Given the description of an element on the screen output the (x, y) to click on. 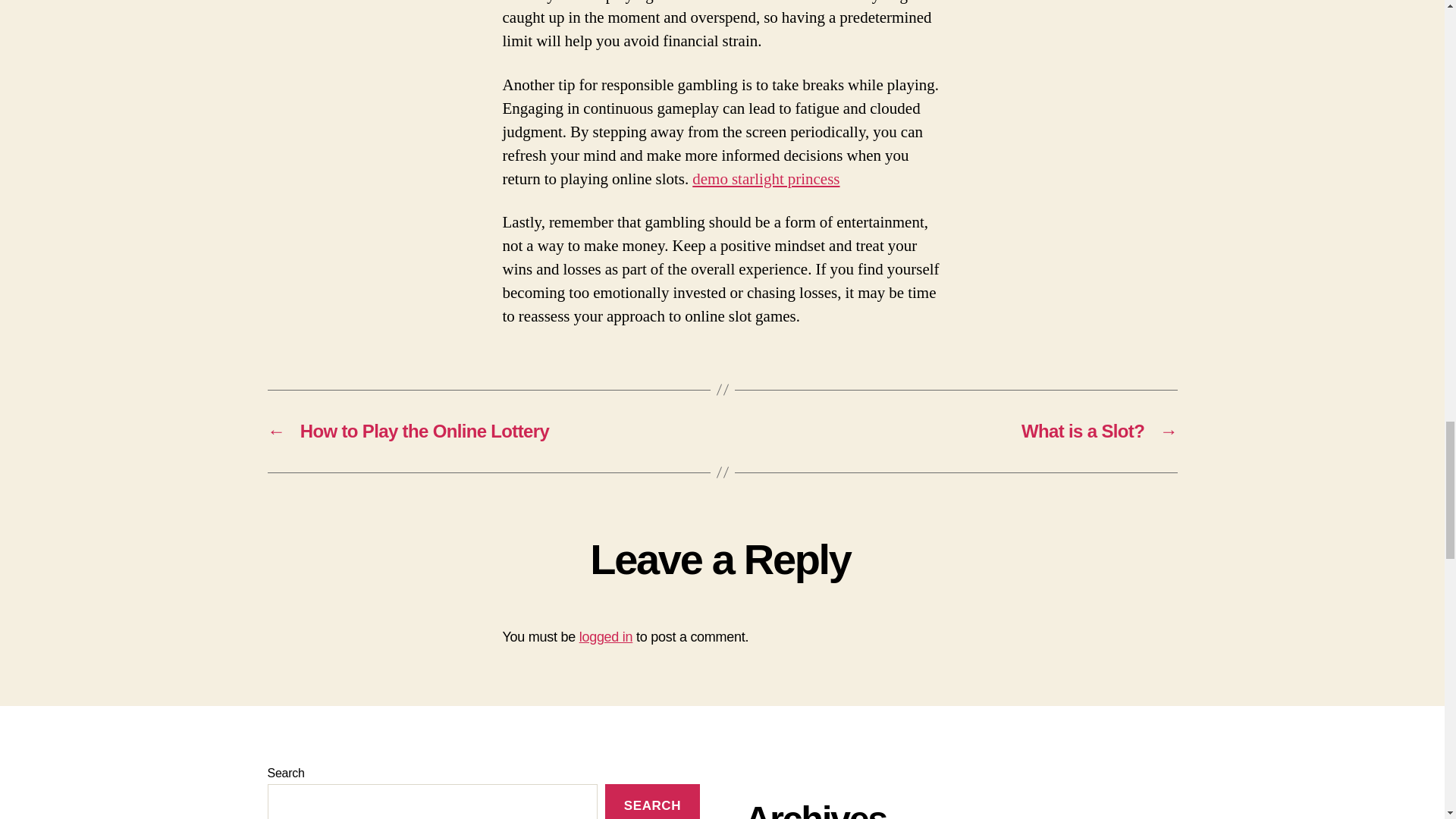
SEARCH (651, 801)
demo starlight princess (766, 178)
logged in (606, 636)
